Given the description of an element on the screen output the (x, y) to click on. 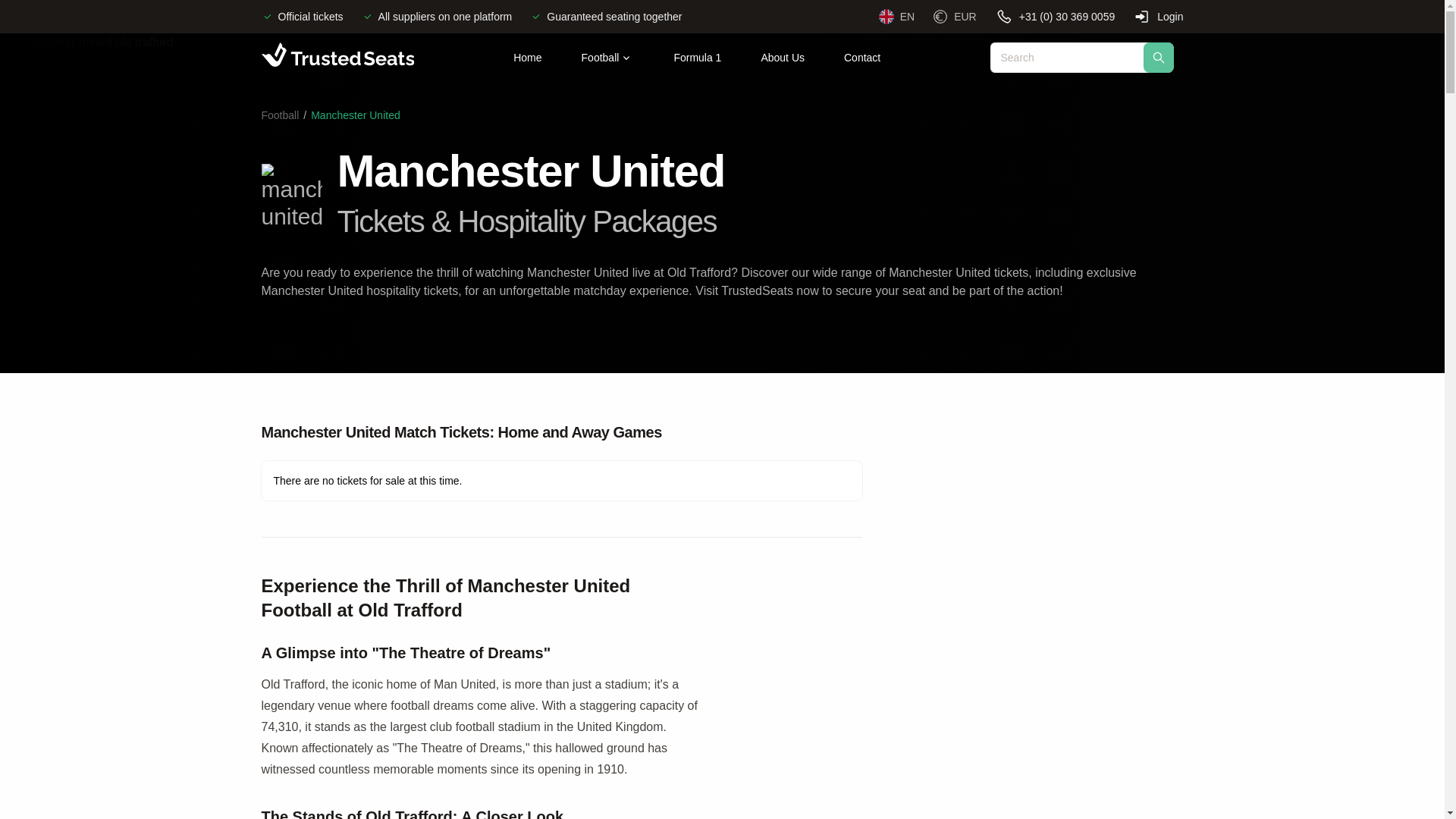
Football (279, 115)
Home (526, 57)
Contact (861, 57)
Football (607, 57)
EN (896, 16)
TrustedSeats (336, 57)
Login (1157, 16)
EUR (954, 16)
About Us (782, 57)
Formula 1 (697, 57)
